Given the description of an element on the screen output the (x, y) to click on. 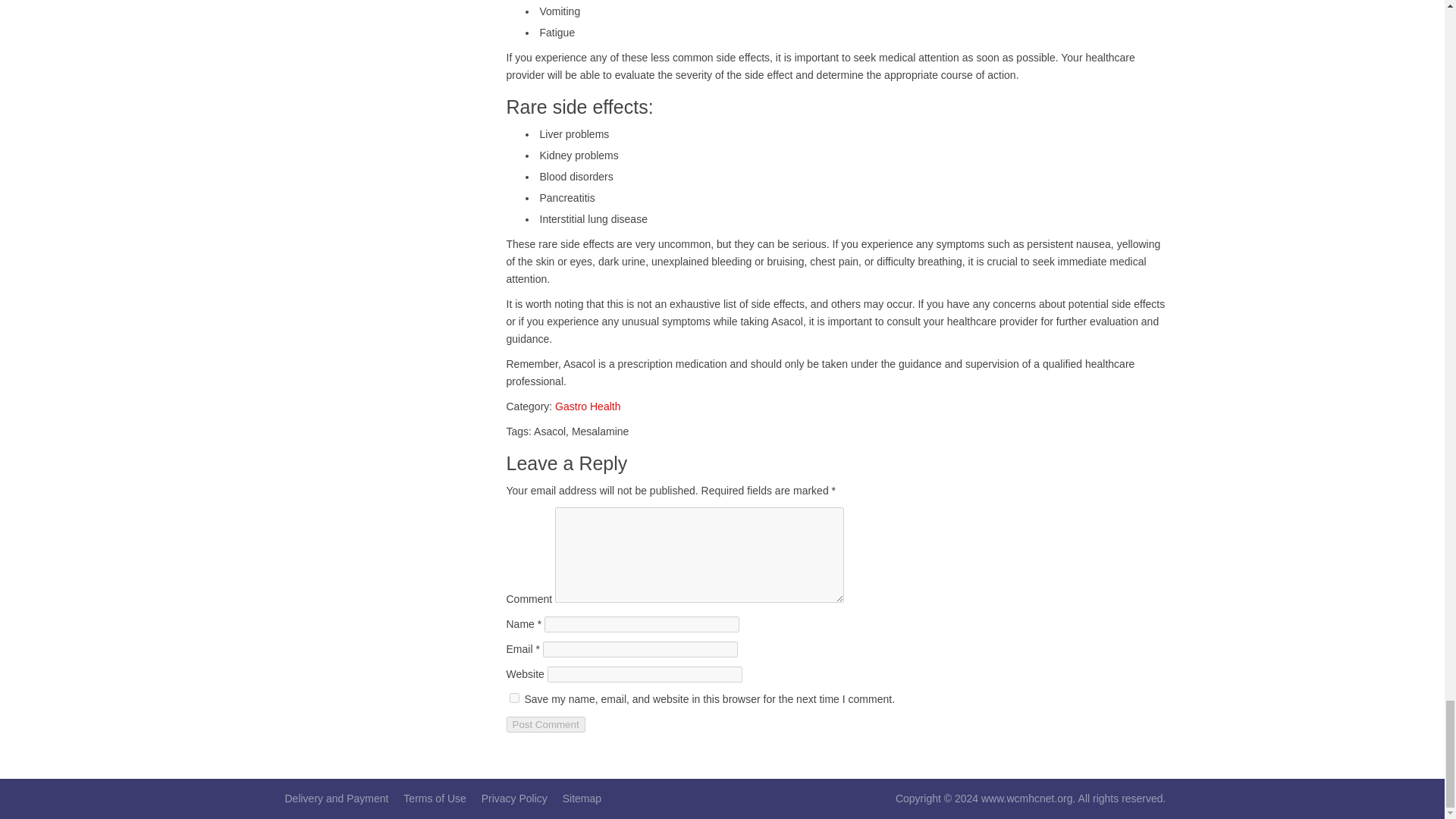
yes (514, 697)
Post Comment (545, 724)
Post Comment (545, 724)
Gastro Health (587, 406)
